Given the description of an element on the screen output the (x, y) to click on. 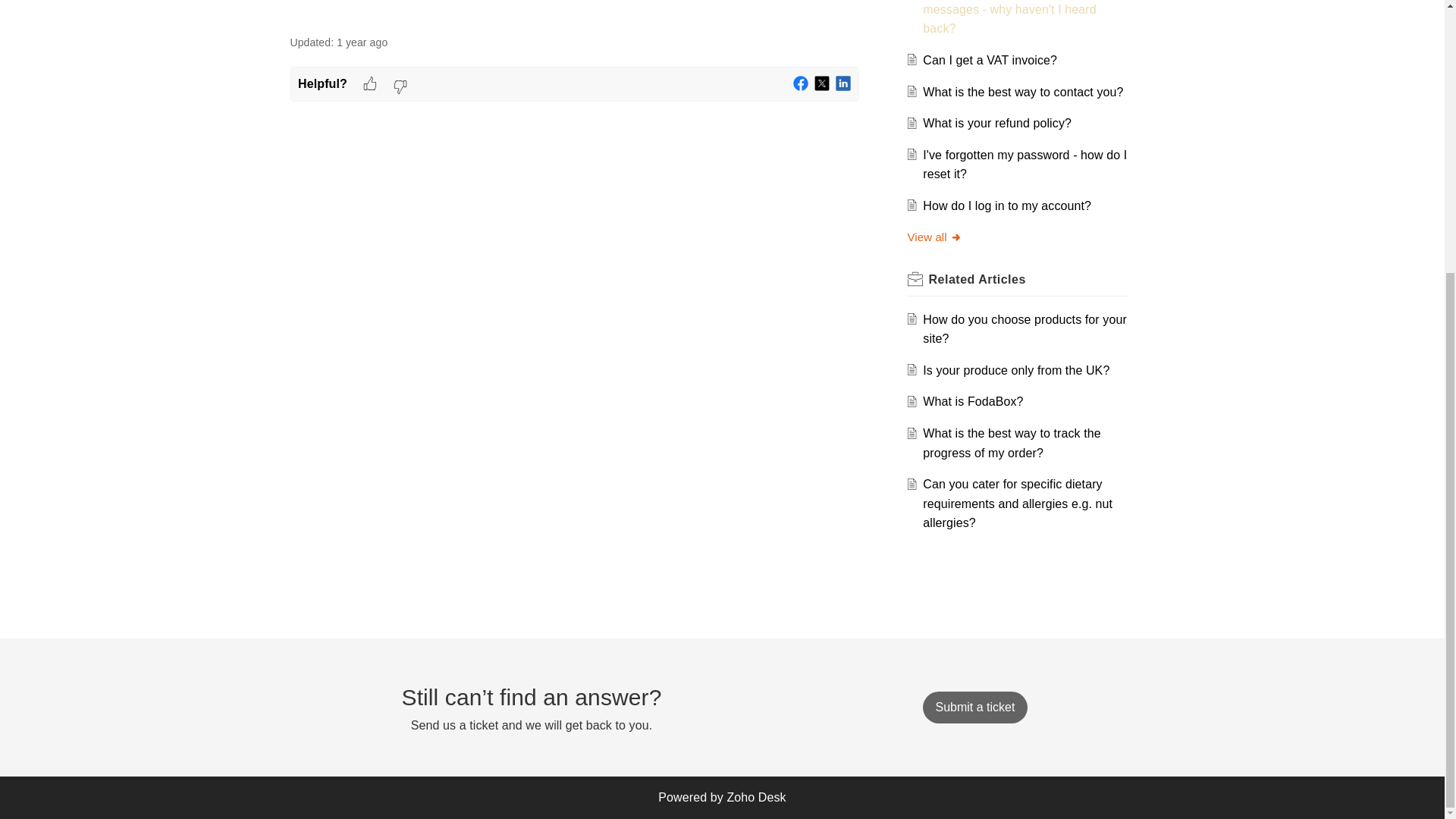
View all (933, 236)
Can I get a VAT invoice? (990, 60)
What is the best way to contact you? (1022, 91)
How do you choose products for your site? (1024, 328)
What is your refund policy? (997, 123)
06 Dec 2022 10:33 PM (361, 42)
What is the best way to track the progress of my order? (1011, 442)
Submit a ticket (974, 707)
Zoho Desk (756, 797)
